Given the description of an element on the screen output the (x, y) to click on. 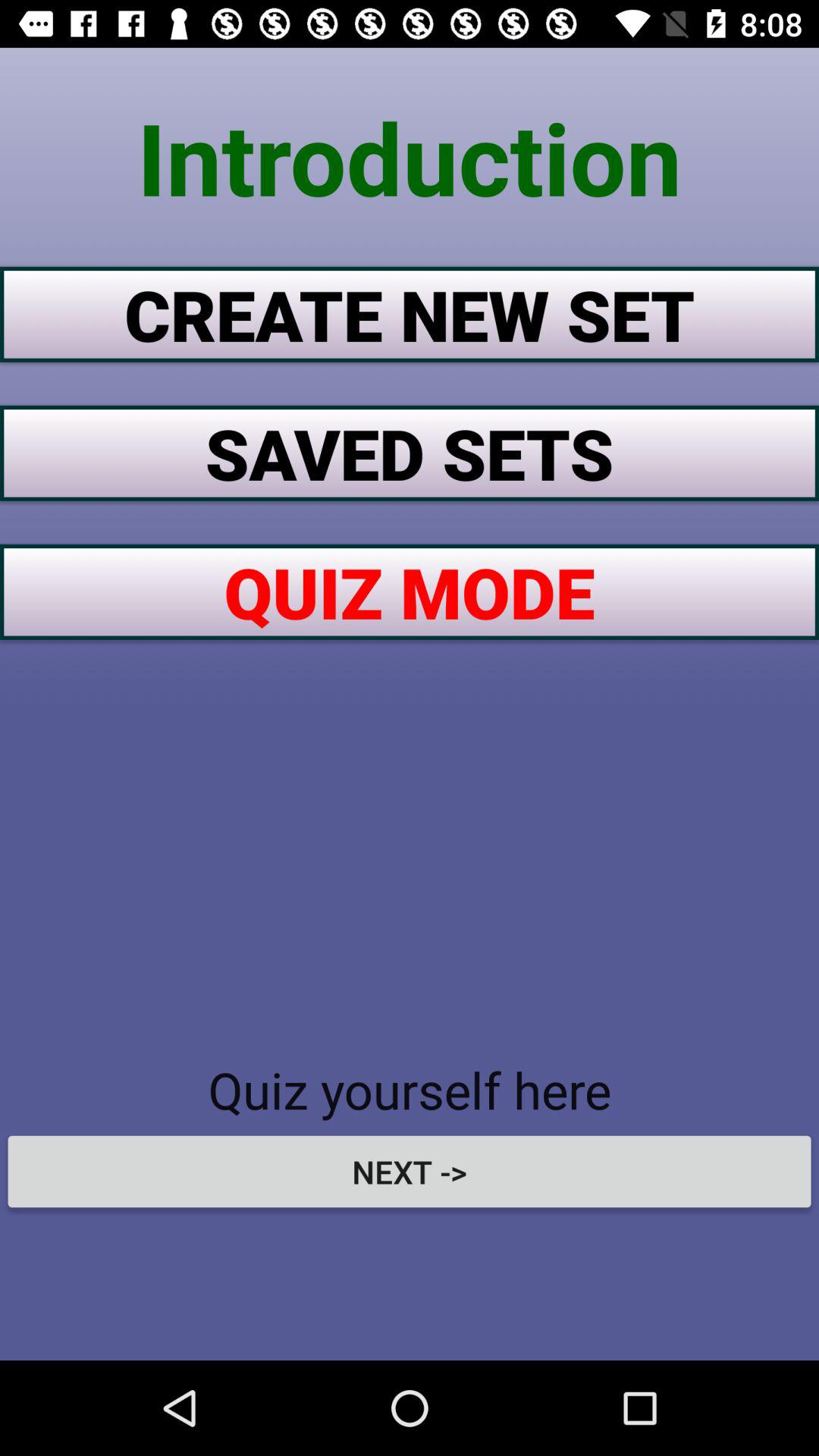
swipe to quiz mode (409, 591)
